Given the description of an element on the screen output the (x, y) to click on. 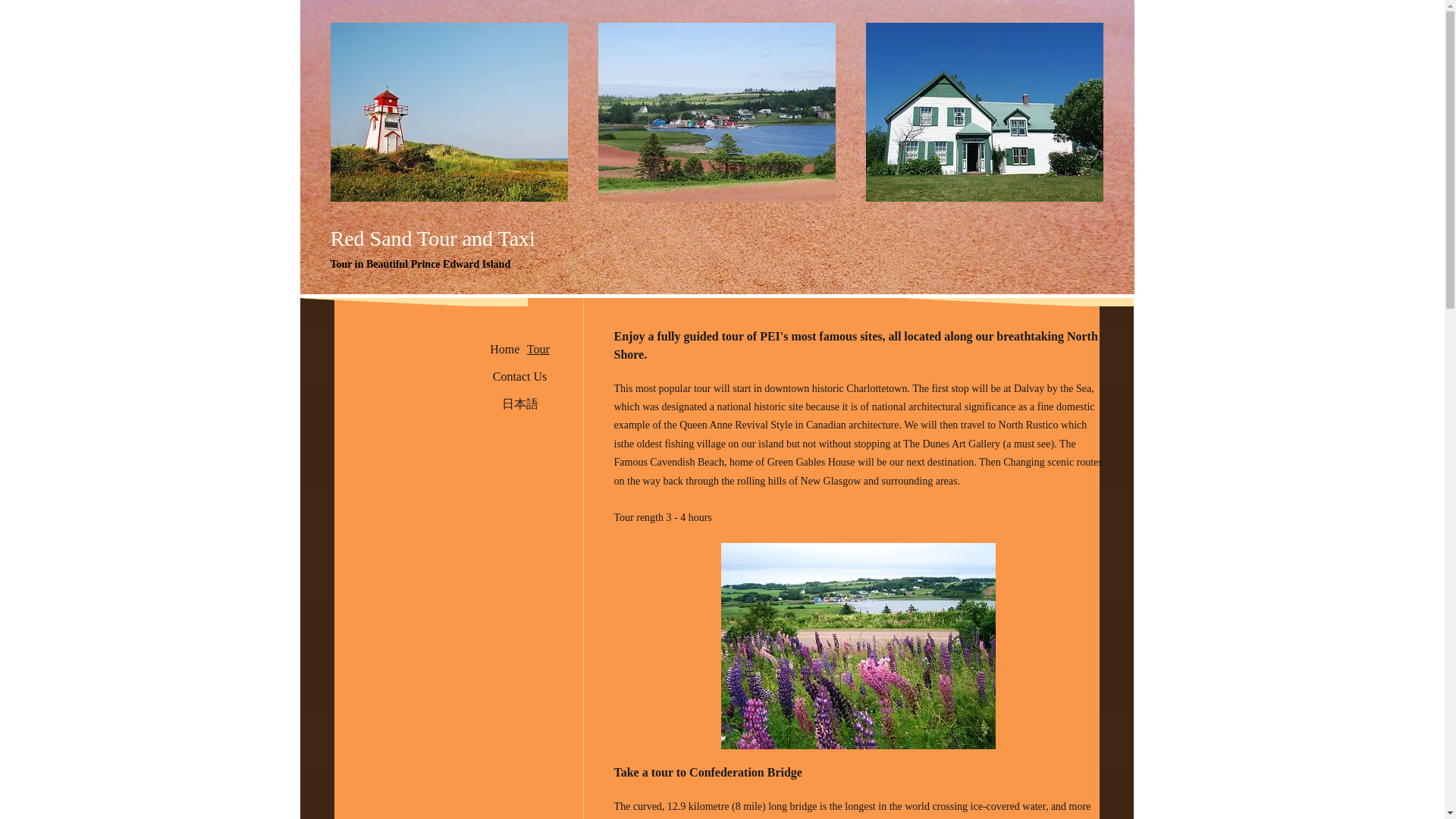
Contact Us (519, 376)
Home (505, 349)
Tour (537, 349)
